Given the description of an element on the screen output the (x, y) to click on. 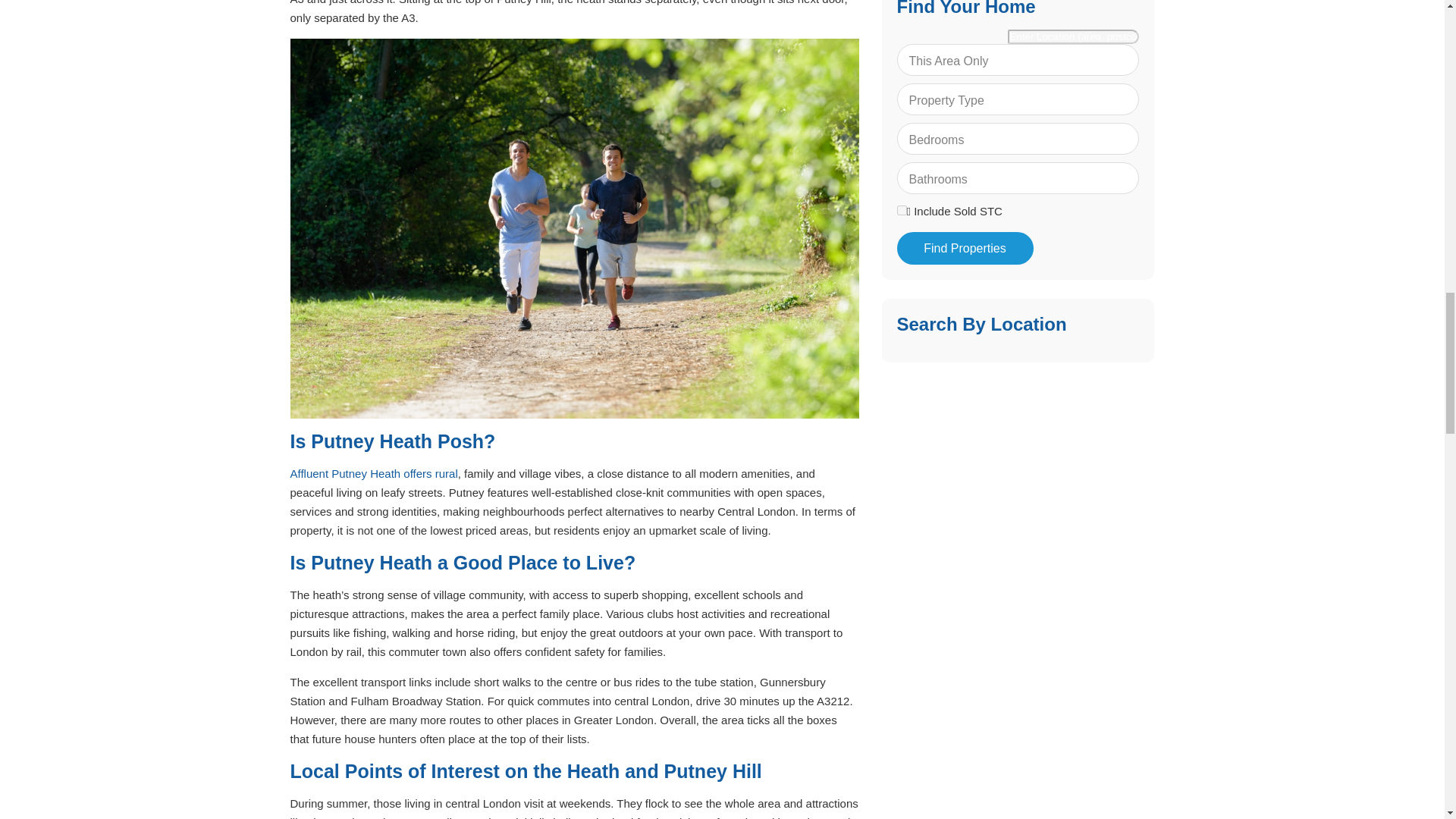
1 (900, 210)
Affluent Putney Heath offers rural (373, 472)
Find Properties (964, 247)
